Given the description of an element on the screen output the (x, y) to click on. 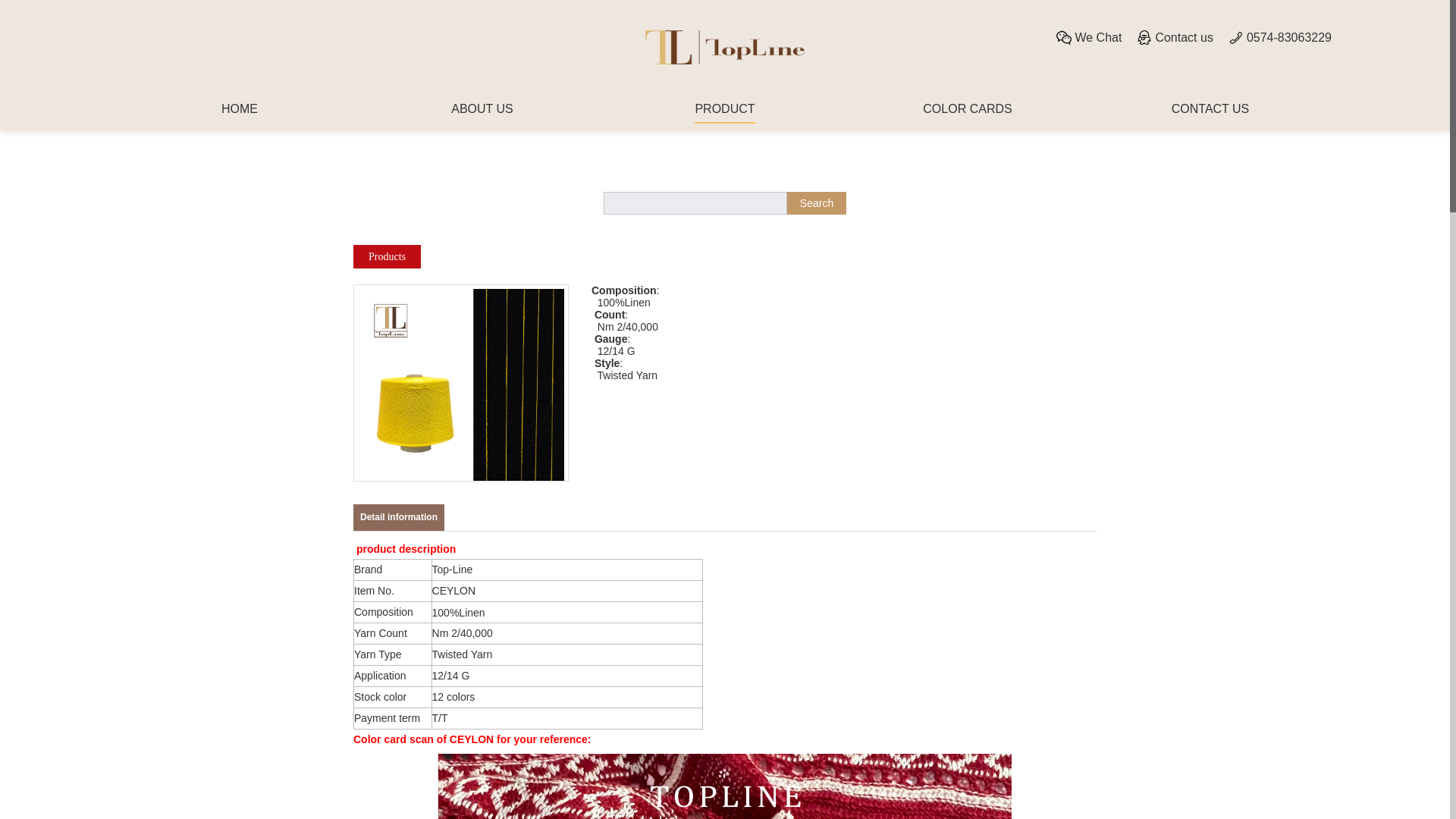
Products (386, 256)
CONTACT US (1210, 112)
PRODUCT (724, 112)
ABOUT US (482, 112)
0574-83063229 (1280, 37)
We Chat (1089, 37)
Search (816, 202)
Contact us (1174, 37)
HOME (239, 112)
COLOR CARDS (967, 112)
